Given the description of an element on the screen output the (x, y) to click on. 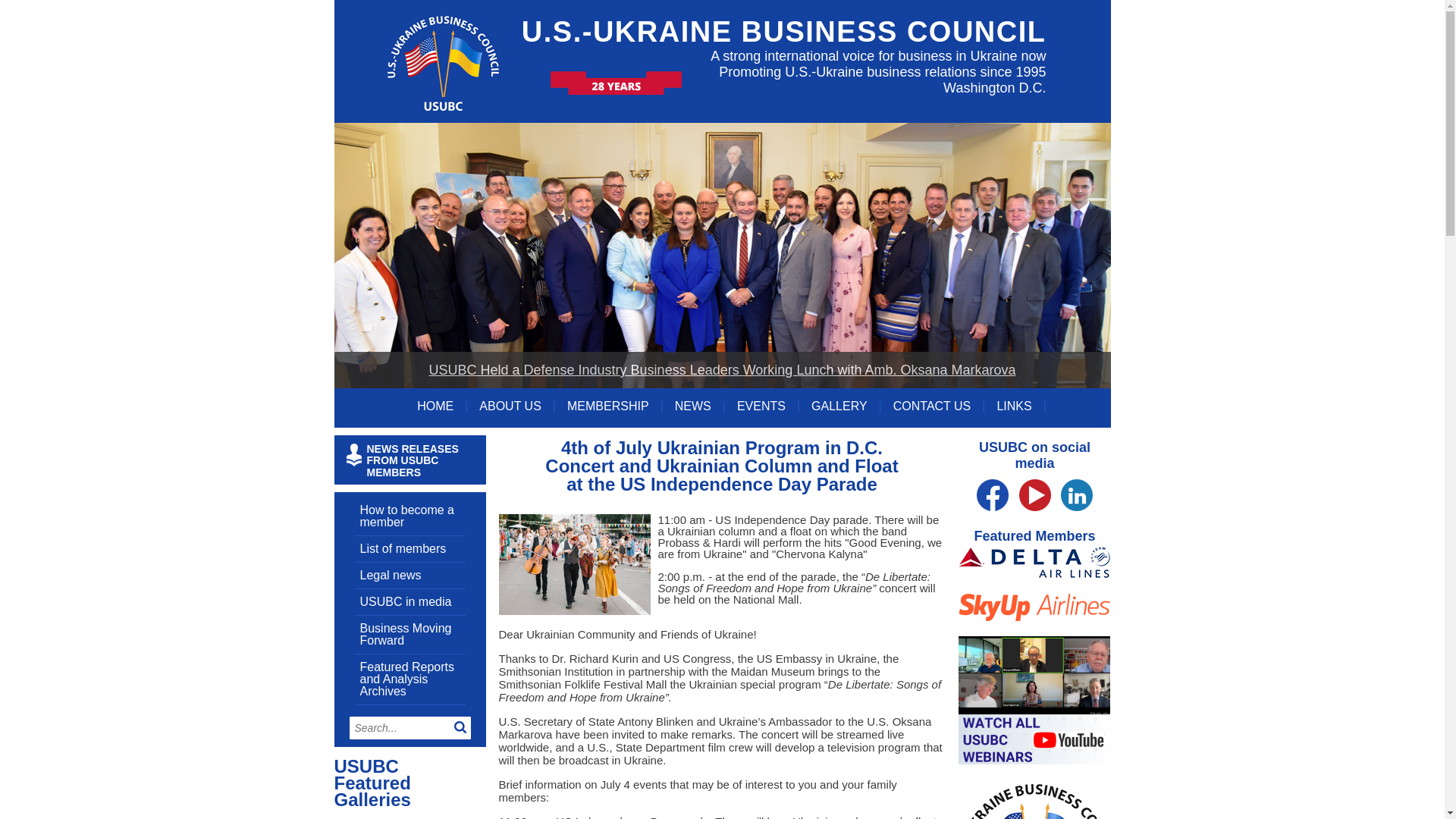
Legal news (389, 574)
LINKS (1020, 406)
NEWS RELEASES FROM USUBC MEMBERS (408, 459)
Recordings of all USUBC Webinars (1033, 791)
MEMBERSHIP (615, 406)
How to become a member (406, 515)
HOME (441, 406)
USUBC on Youtube (1035, 519)
CONTACT US (939, 406)
NEWS (700, 406)
List of members (402, 548)
USUBC on Facebook (992, 519)
GALLERY (846, 406)
EVENTS (767, 406)
